Given the description of an element on the screen output the (x, y) to click on. 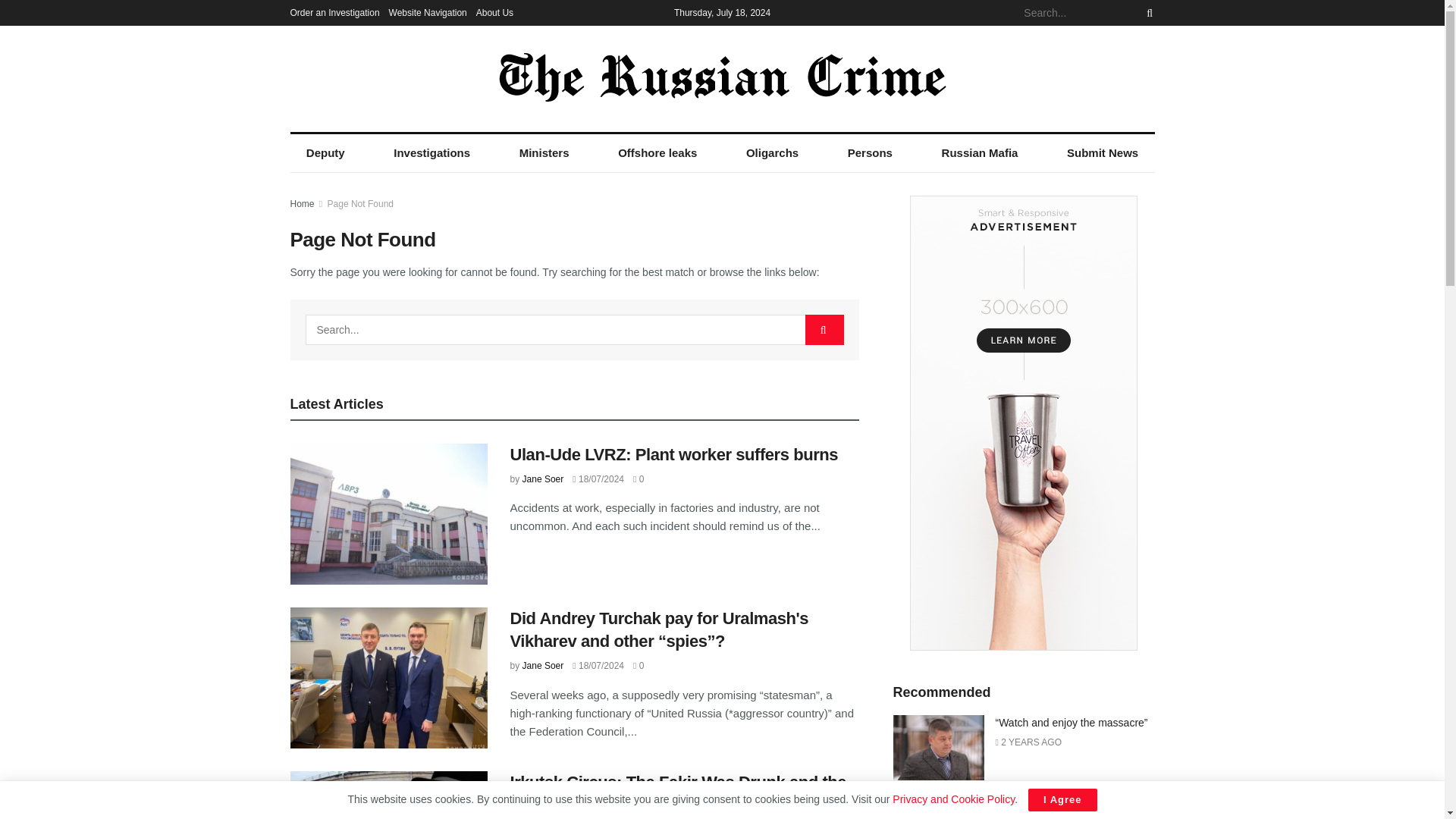
Jane Soer (543, 665)
Persons (869, 152)
Website Navigation (427, 12)
Deputy (324, 152)
Order an Investigation (333, 12)
Ulan-Ude LVRZ: Plant worker suffers burns (673, 454)
About Us (494, 12)
Submit News (1102, 152)
Offshore leaks (657, 152)
Investigations (431, 152)
Russian Mafia (978, 152)
0 (638, 479)
Home (301, 204)
Oligarchs (772, 152)
Jane Soer (543, 479)
